Given the description of an element on the screen output the (x, y) to click on. 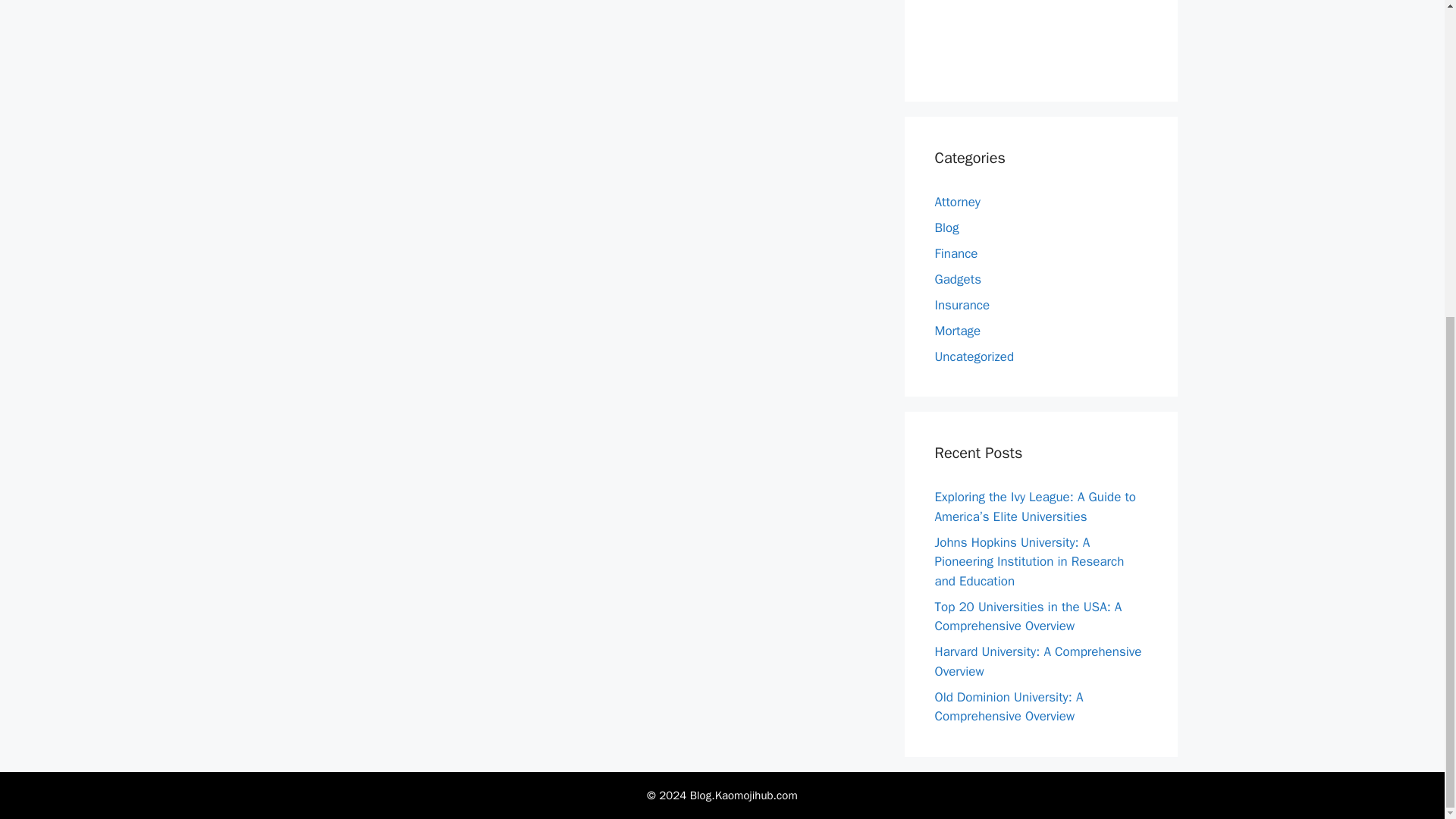
Uncategorized (973, 356)
Gadgets (956, 279)
Top 20 Universities in the USA: A Comprehensive Overview (1027, 616)
Advertisement (1047, 32)
Insurance (962, 304)
Finance (955, 253)
Mortage (956, 330)
Attorney (956, 201)
Harvard University: A Comprehensive Overview (1037, 661)
Blog (946, 227)
Old Dominion University: A Comprehensive Overview (1008, 705)
